Given the description of an element on the screen output the (x, y) to click on. 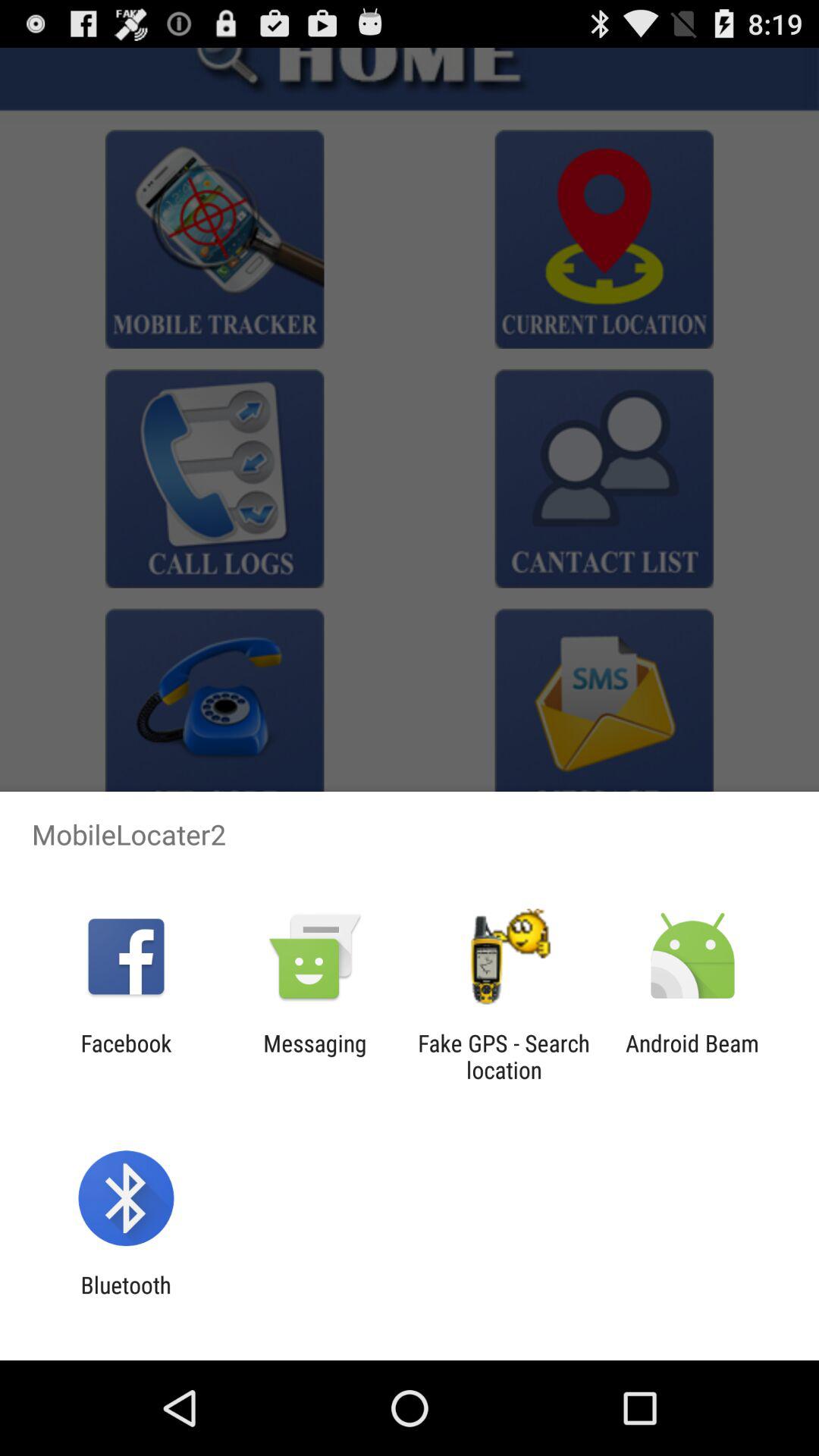
jump until the messaging item (314, 1056)
